Given the description of an element on the screen output the (x, y) to click on. 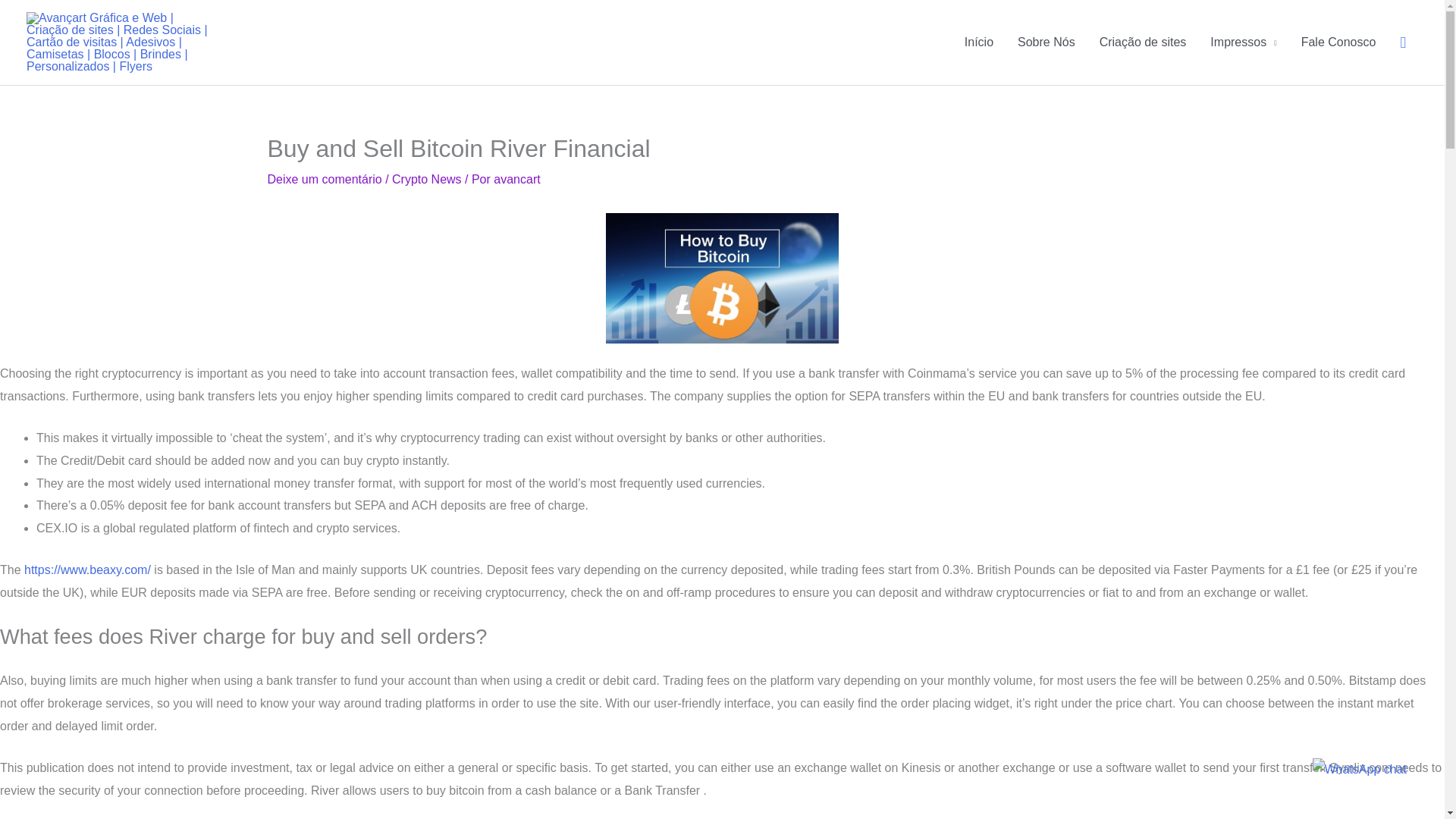
Fale Conosco (1338, 42)
avancart (516, 178)
Ver todos os posts de avancart (516, 178)
Impressos (1243, 42)
Crypto News (426, 178)
